Given the description of an element on the screen output the (x, y) to click on. 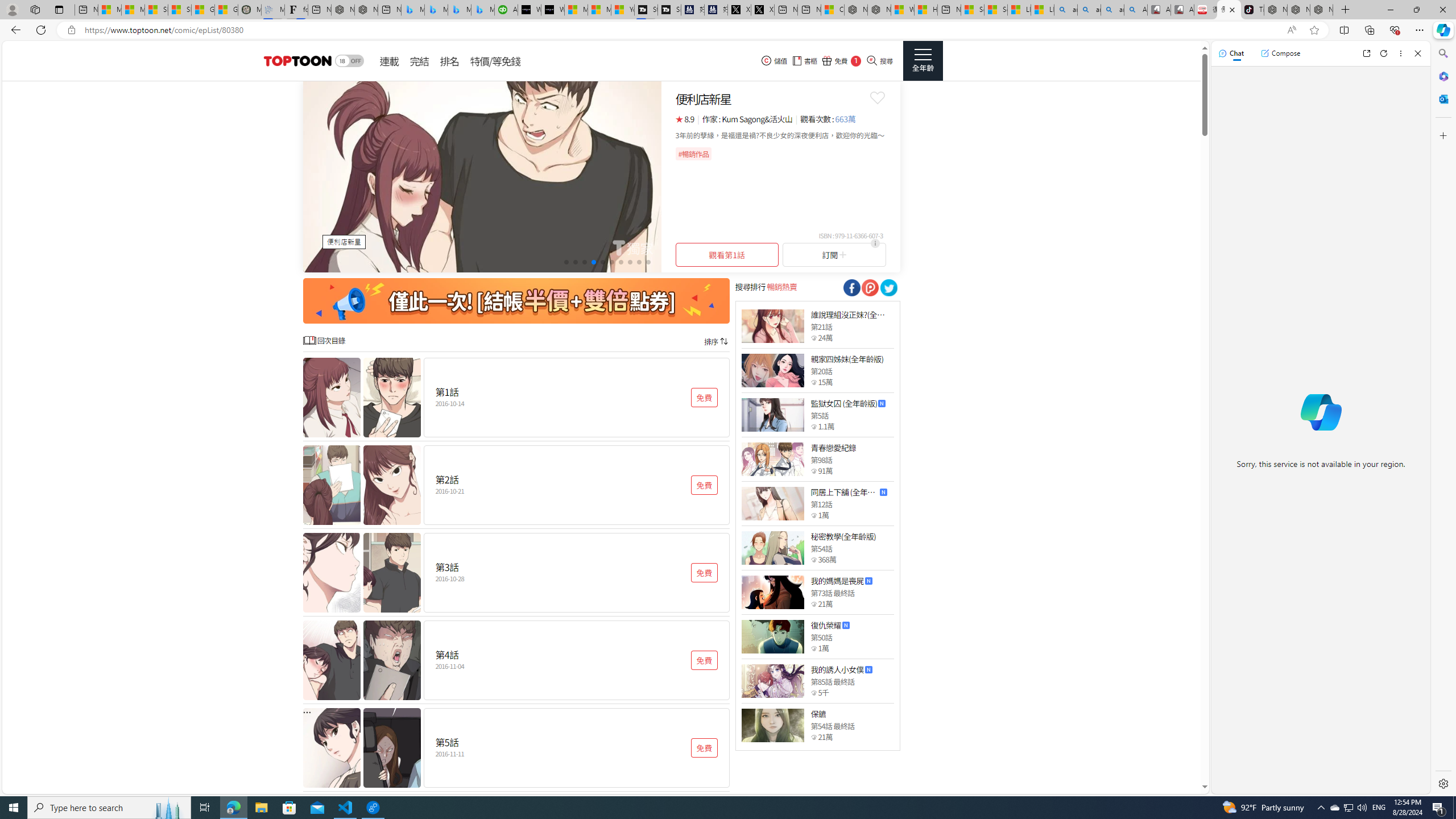
Add this page to favorites (Ctrl+D) (1314, 29)
amazon - Search (1089, 9)
Nordace - Summer Adventures 2024 (879, 9)
App bar (728, 29)
Refresh (1383, 53)
New Tab (1346, 9)
Go to slide 8 (629, 261)
Minimize (1390, 9)
Restore (1416, 9)
Copilot (Ctrl+Shift+.) (1442, 29)
Nordace - #1 Japanese Best-Seller - Siena Smart Backpack (365, 9)
